Given the description of an element on the screen output the (x, y) to click on. 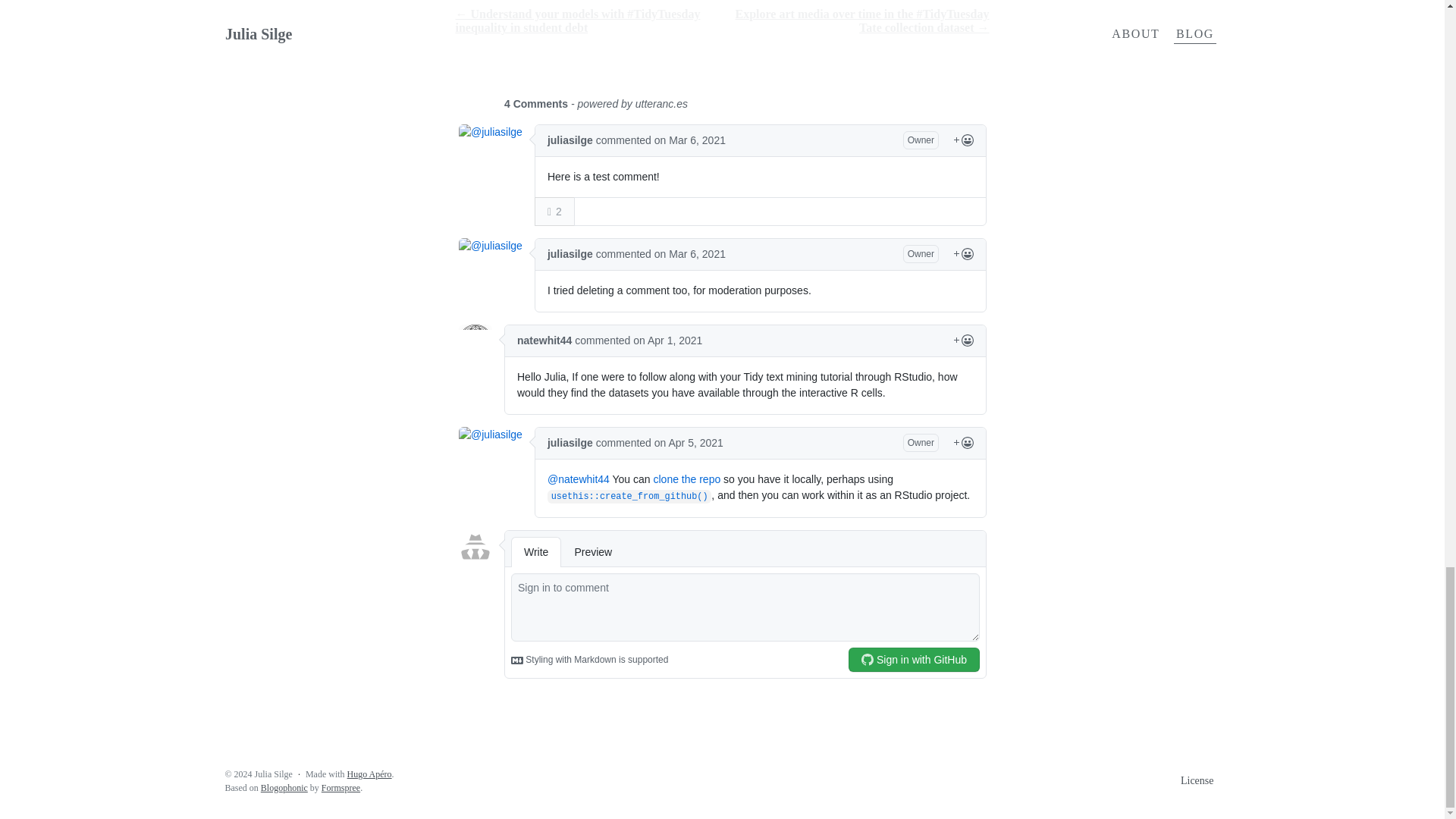
Blogophonic (283, 787)
Formspree (340, 787)
License (1197, 781)
License (1197, 781)
